Given the description of an element on the screen output the (x, y) to click on. 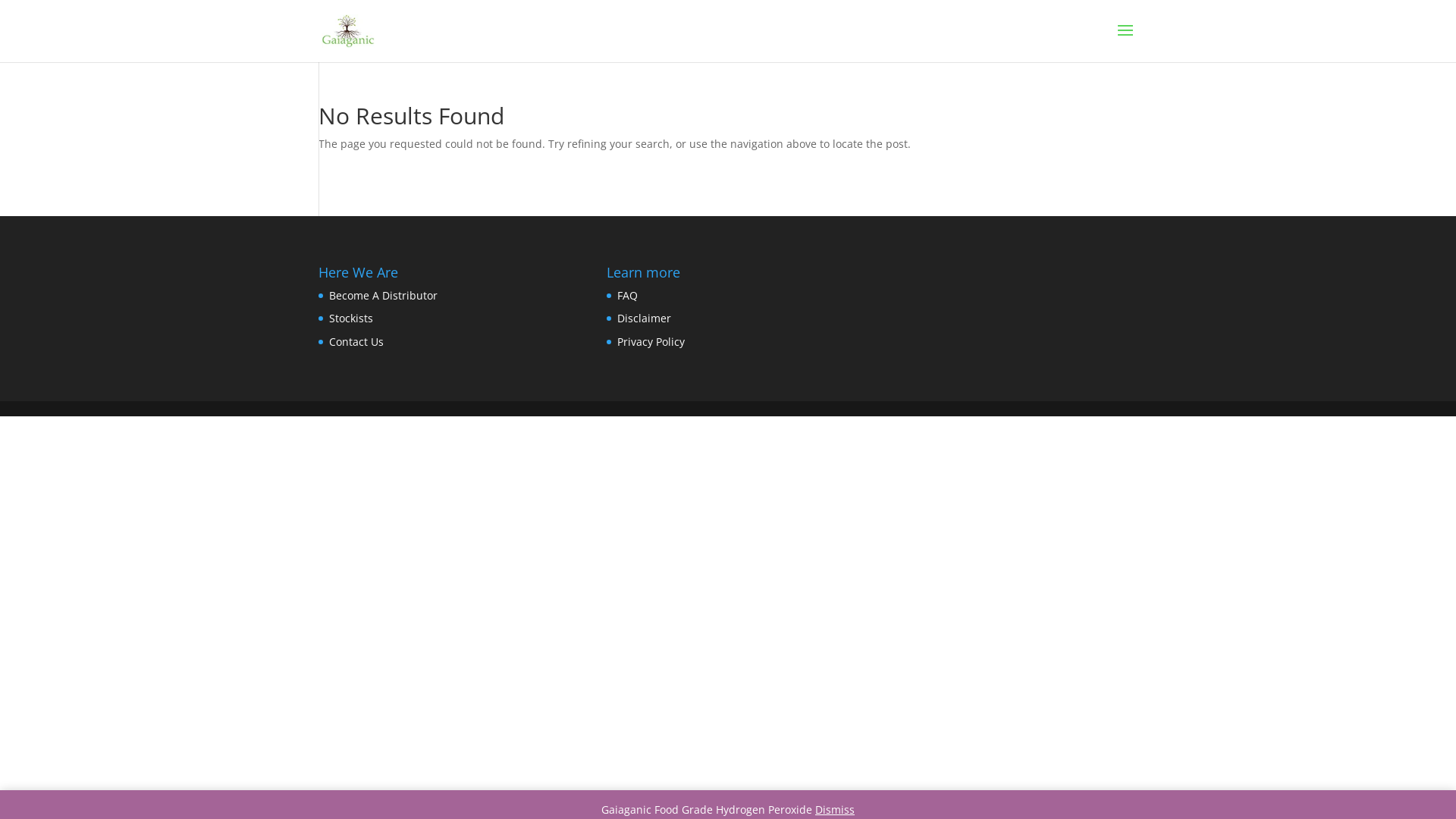
Dismiss Element type: text (834, 809)
Become A Distributor Element type: text (383, 295)
FAQ Element type: text (627, 295)
Privacy Policy Element type: text (650, 341)
Contact Us Element type: text (356, 341)
Disclaimer Element type: text (644, 317)
Stockists Element type: text (351, 317)
